Given the description of an element on the screen output the (x, y) to click on. 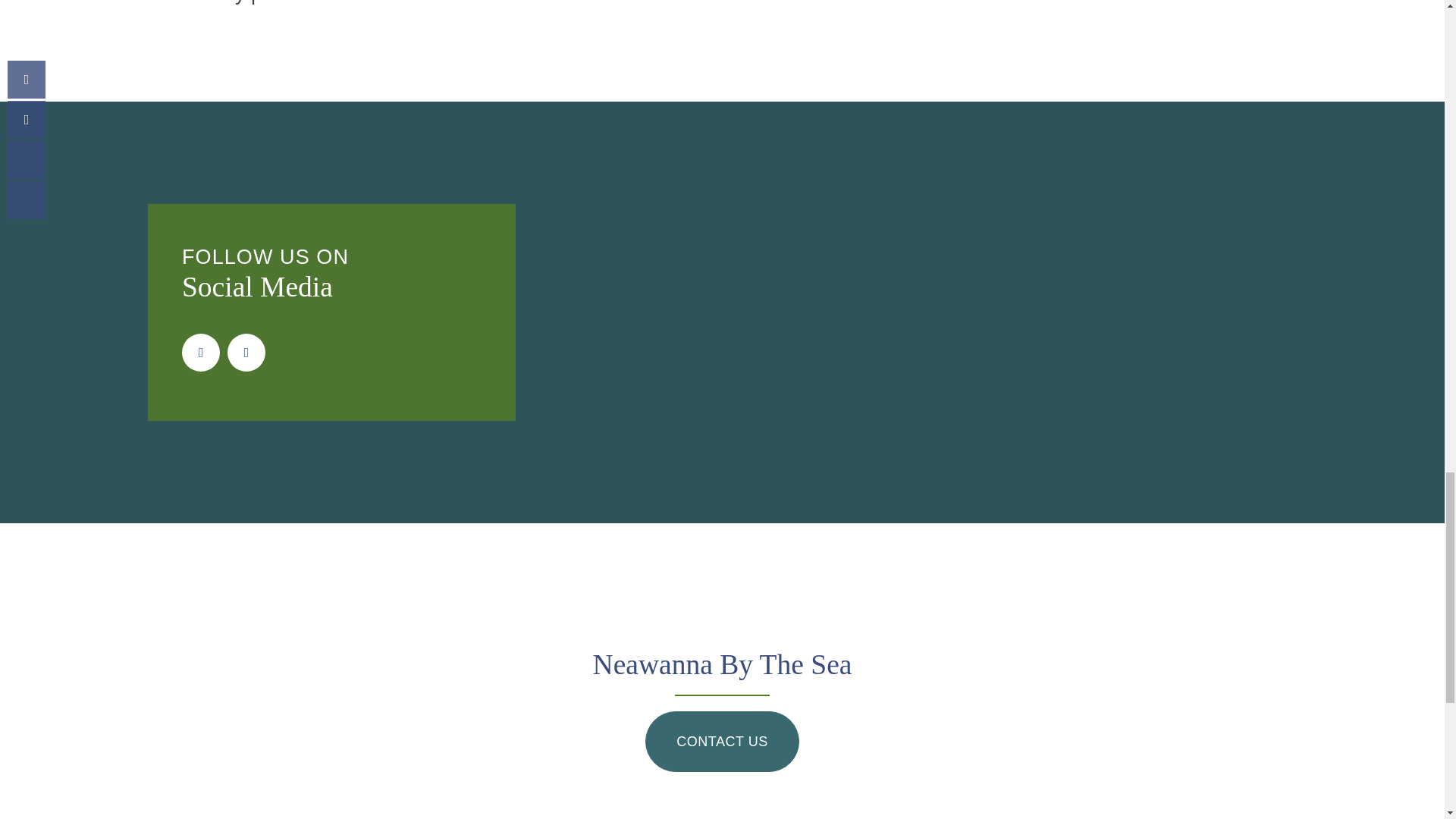
CONTACT US (722, 741)
Google My Business (245, 352)
